Given the description of an element on the screen output the (x, y) to click on. 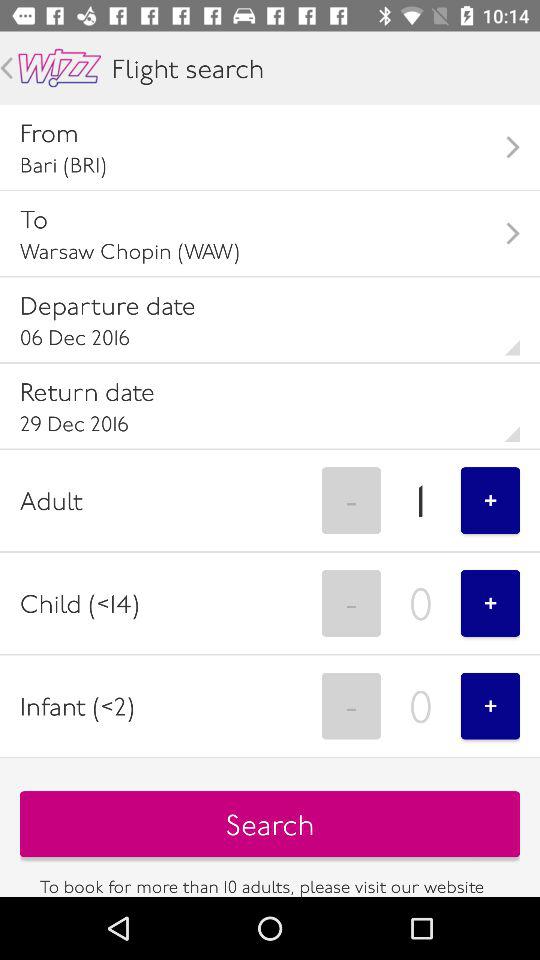
select  option next to infant2 (351, 706)
click on  button in the adult field (490, 499)
click on  icon above search button (490, 706)
